Given the description of an element on the screen output the (x, y) to click on. 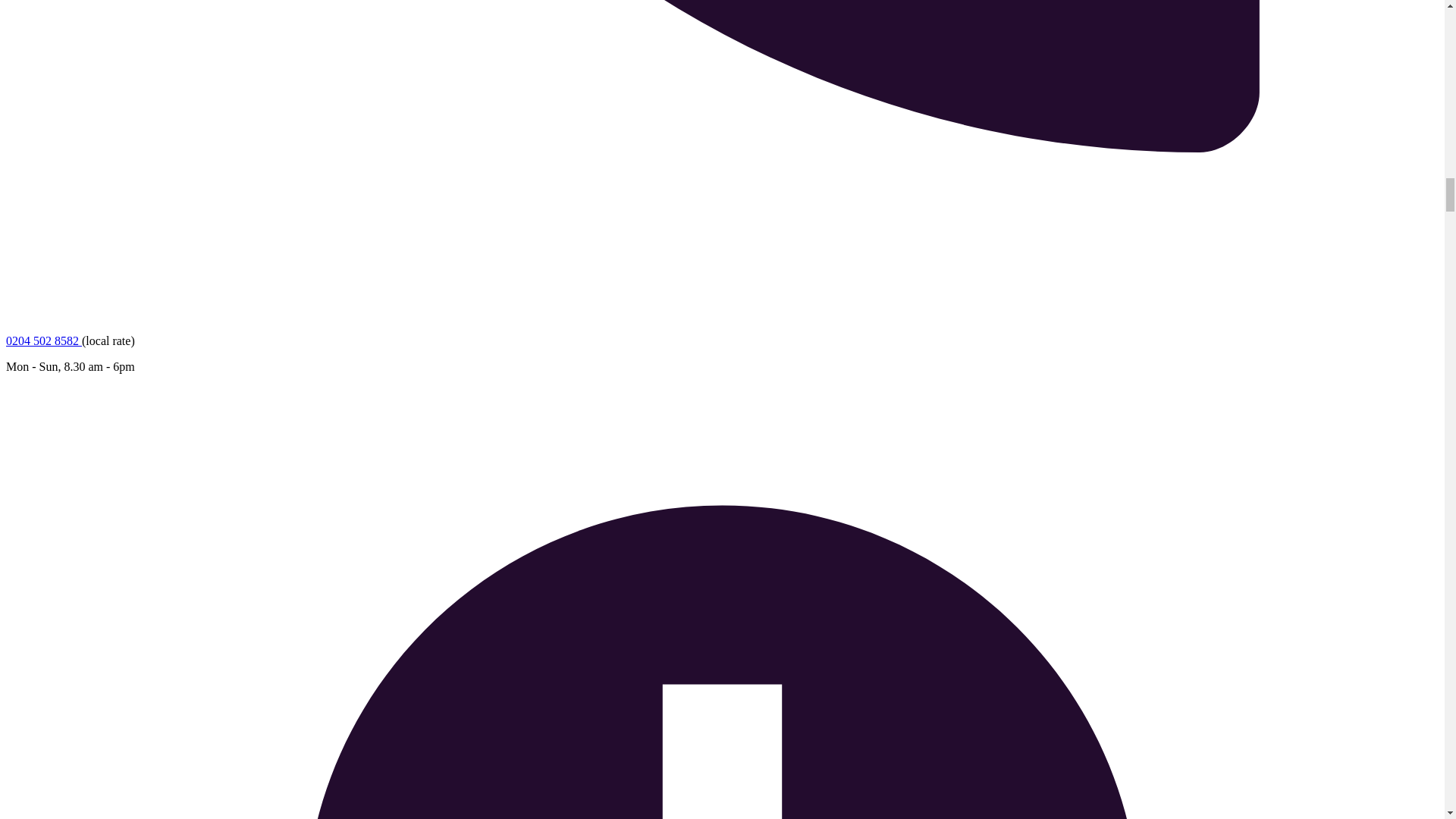
0204 502 8582 (43, 340)
